Given the description of an element on the screen output the (x, y) to click on. 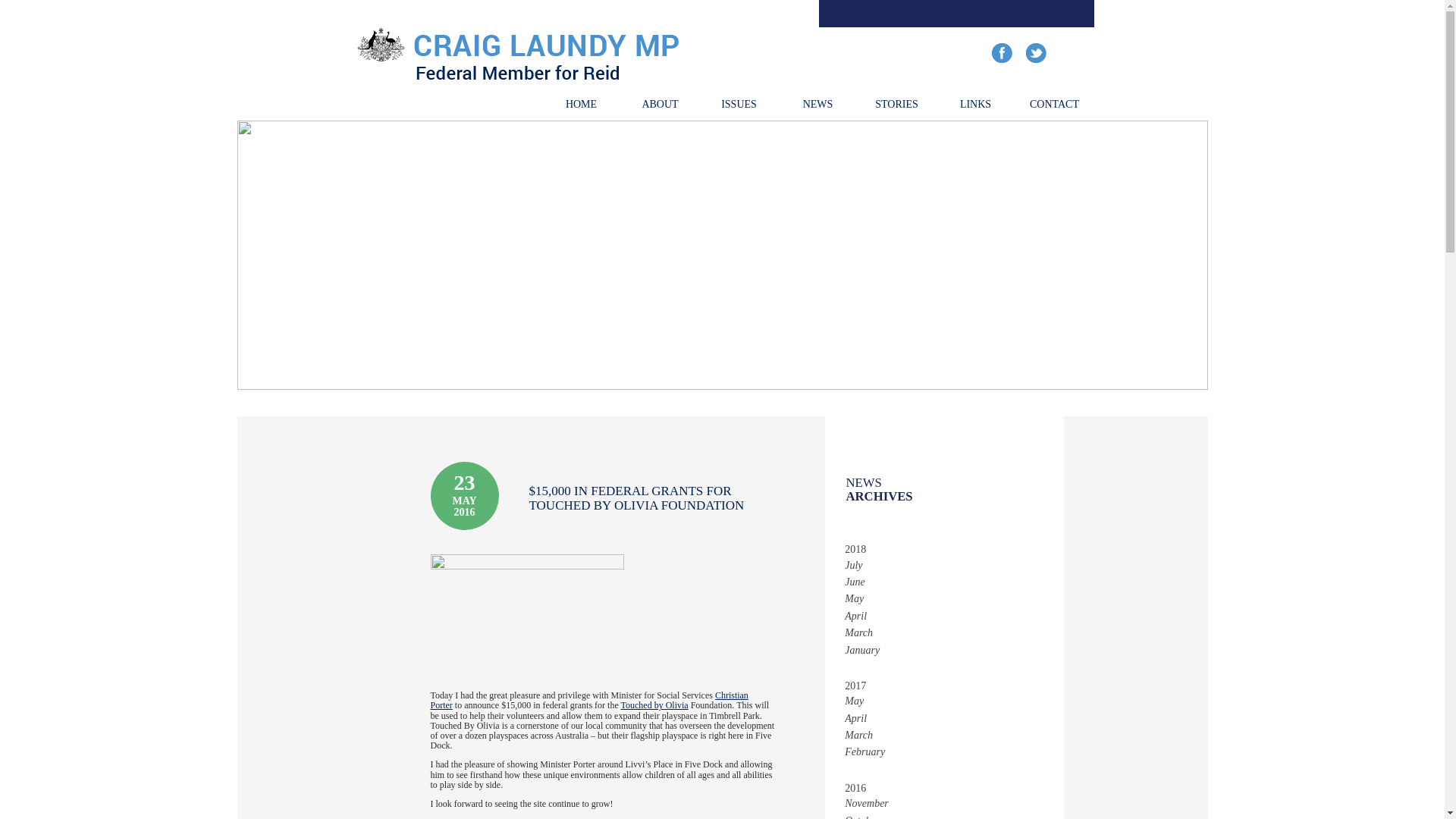
HOME (580, 103)
CONTACT (1053, 103)
ABOUT (659, 103)
NEWS (817, 103)
ISSUES (737, 103)
STORIES (896, 103)
LINKS (975, 103)
